Given the description of an element on the screen output the (x, y) to click on. 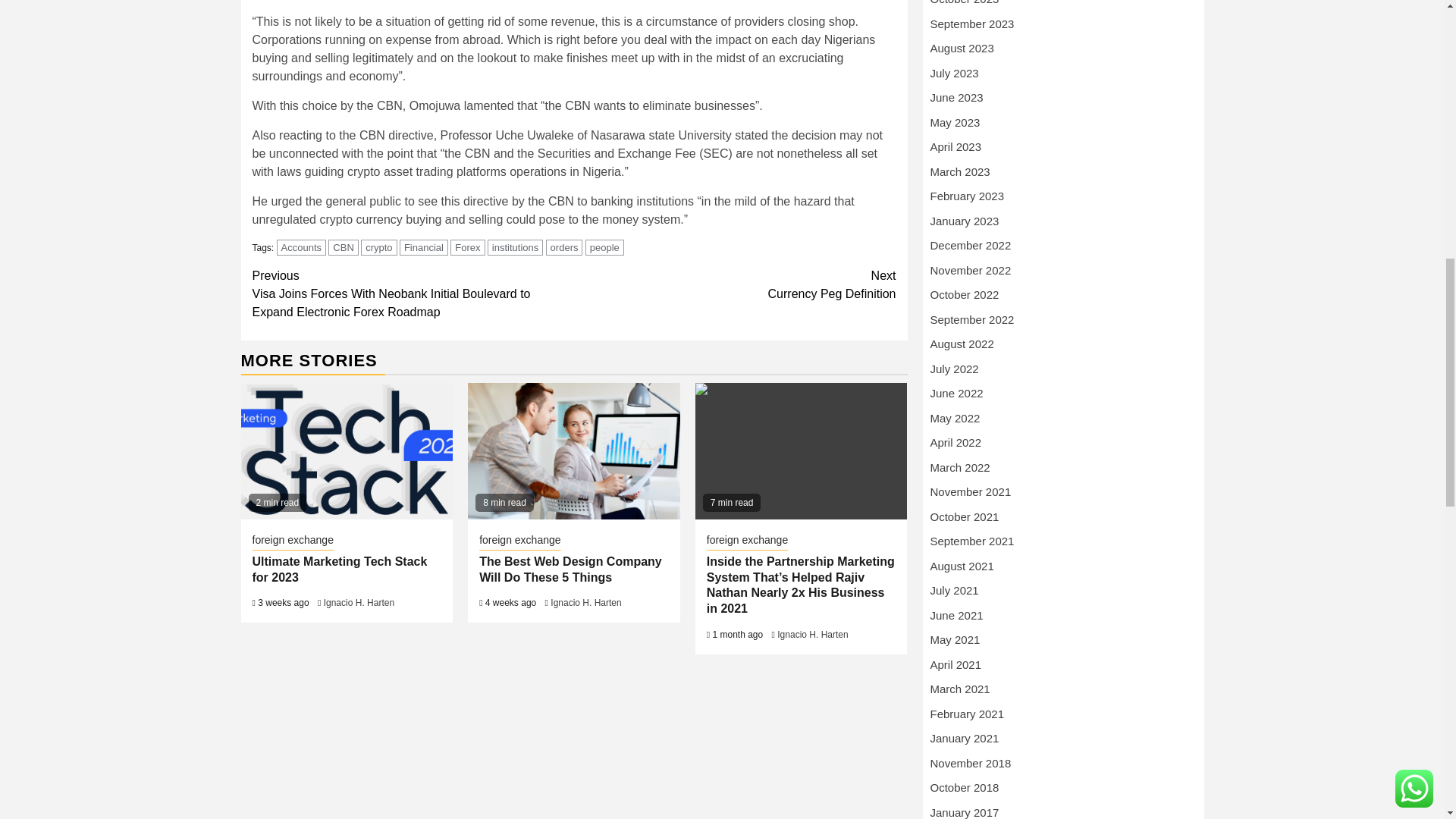
CBN (343, 247)
people (604, 247)
The Best Web Design Company Will Do These 5 Things (573, 451)
crypto (378, 247)
institutions (515, 247)
Ultimate Marketing Tech Stack for 2023 (338, 569)
foreign exchange (519, 541)
The Best Web Design Company Will Do These 5 Things (570, 569)
foreign exchange (292, 541)
